Given the description of an element on the screen output the (x, y) to click on. 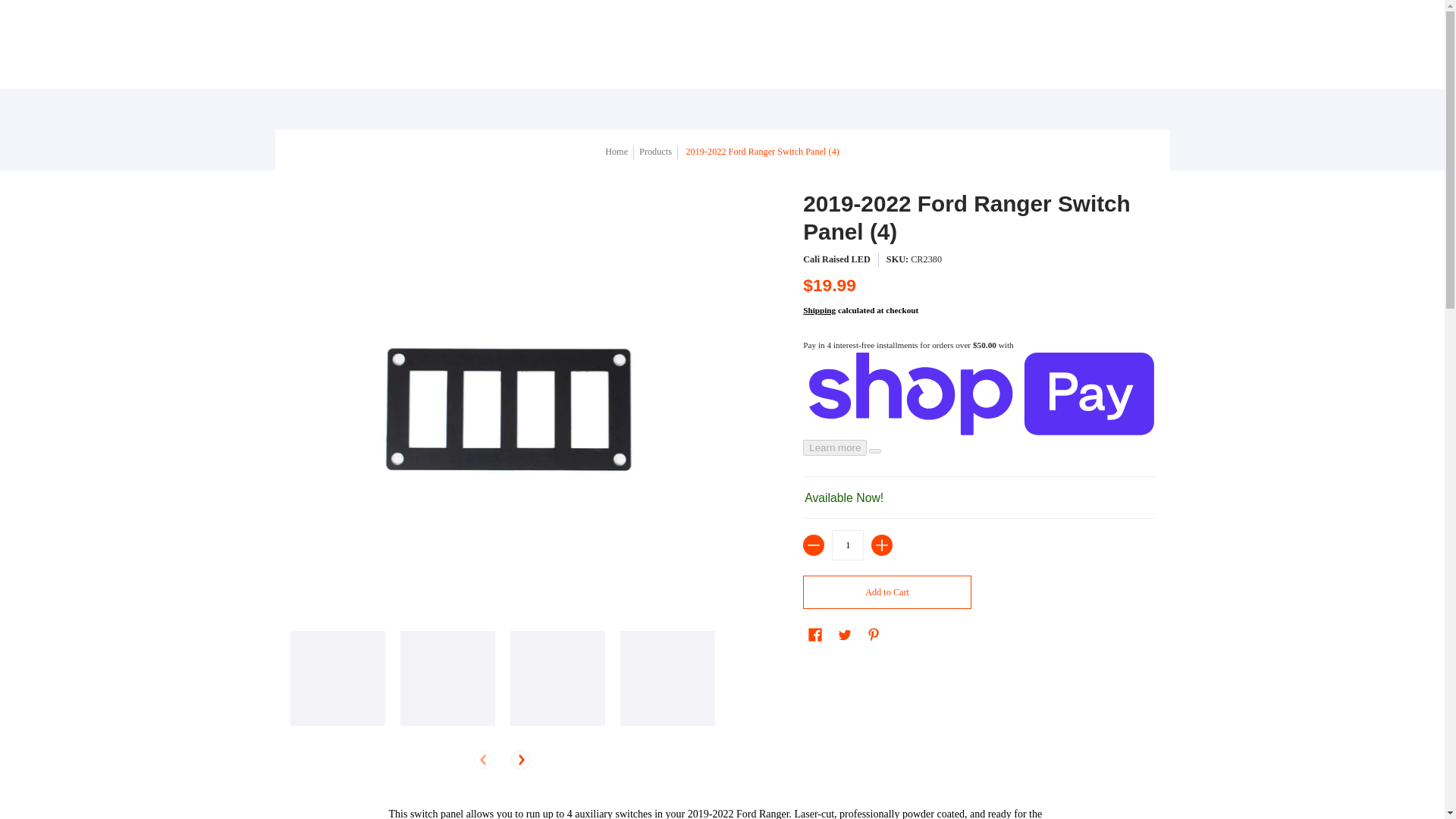
1 (847, 544)
